Given the description of an element on the screen output the (x, y) to click on. 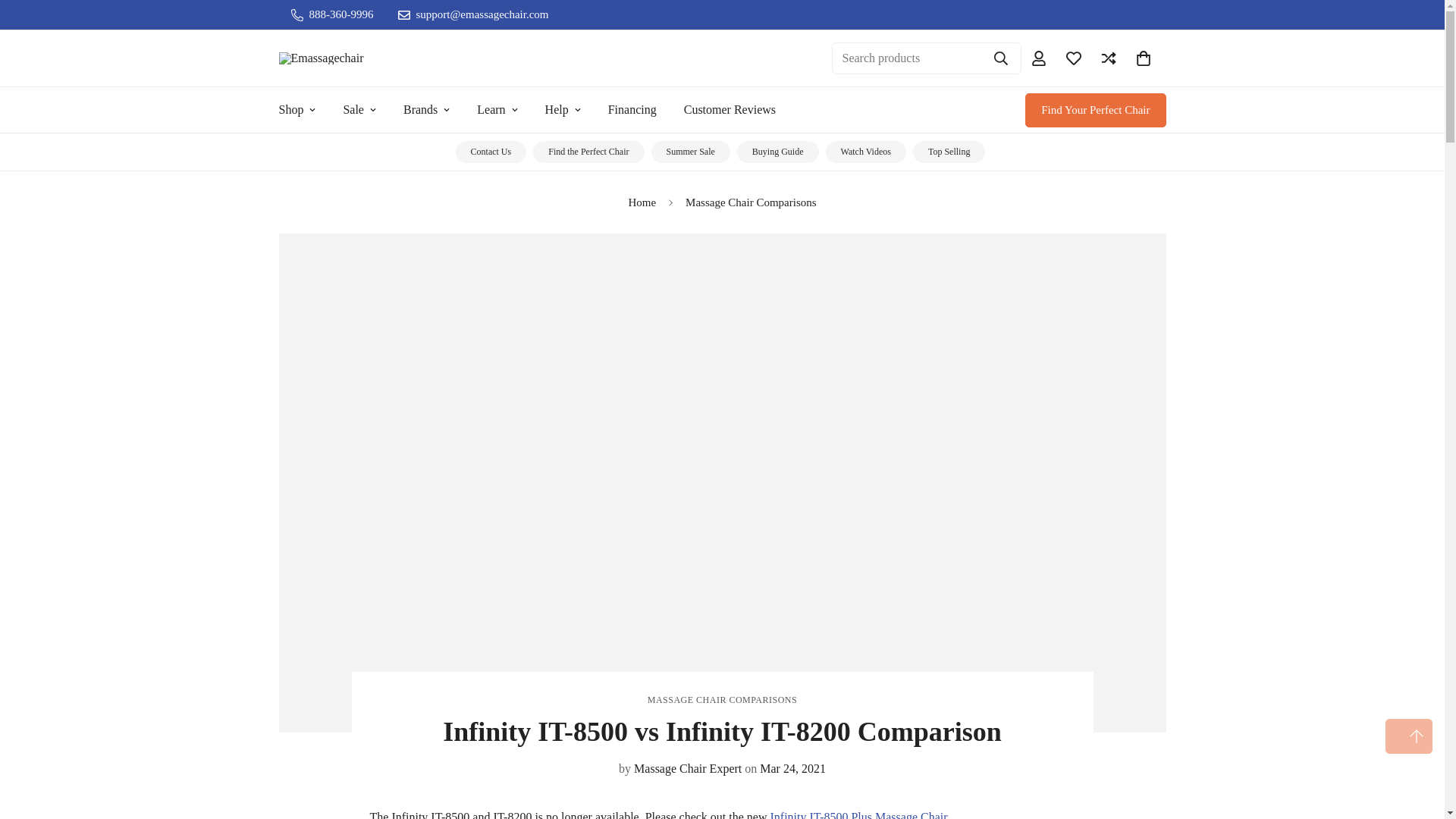
Find Your Perfect Chair (1095, 109)
Emassagechair (354, 58)
Back to the home page (640, 202)
888-360-9996 (332, 14)
Infinity IT-8500 Plus Massage Chair (858, 814)
